Given the description of an element on the screen output the (x, y) to click on. 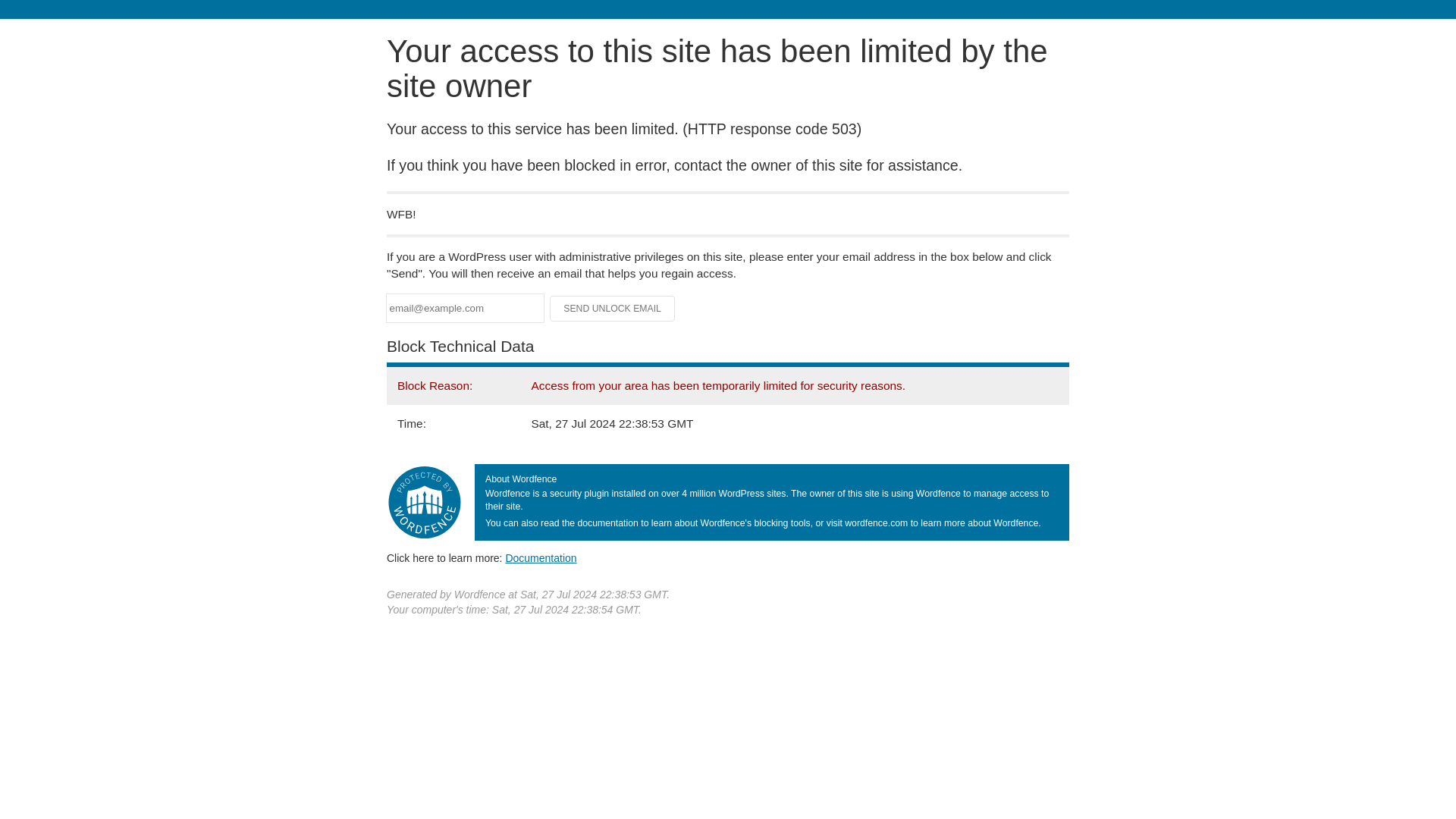
Send Unlock Email (612, 308)
Documentation (540, 558)
Send Unlock Email (612, 308)
